Given the description of an element on the screen output the (x, y) to click on. 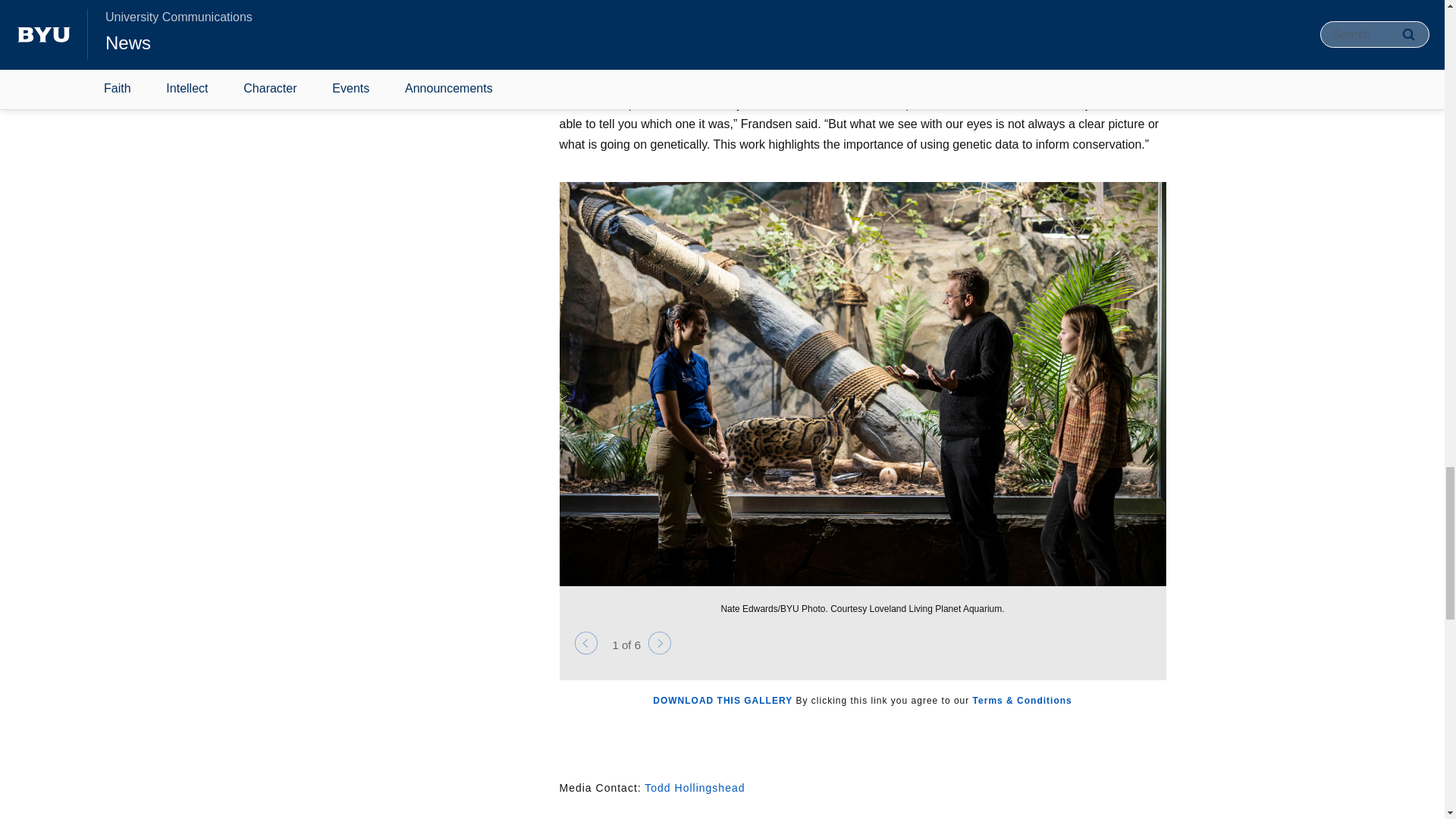
Todd Hollingshead (694, 787)
DOWNLOAD THIS GALLERY (722, 700)
